Given the description of an element on the screen output the (x, y) to click on. 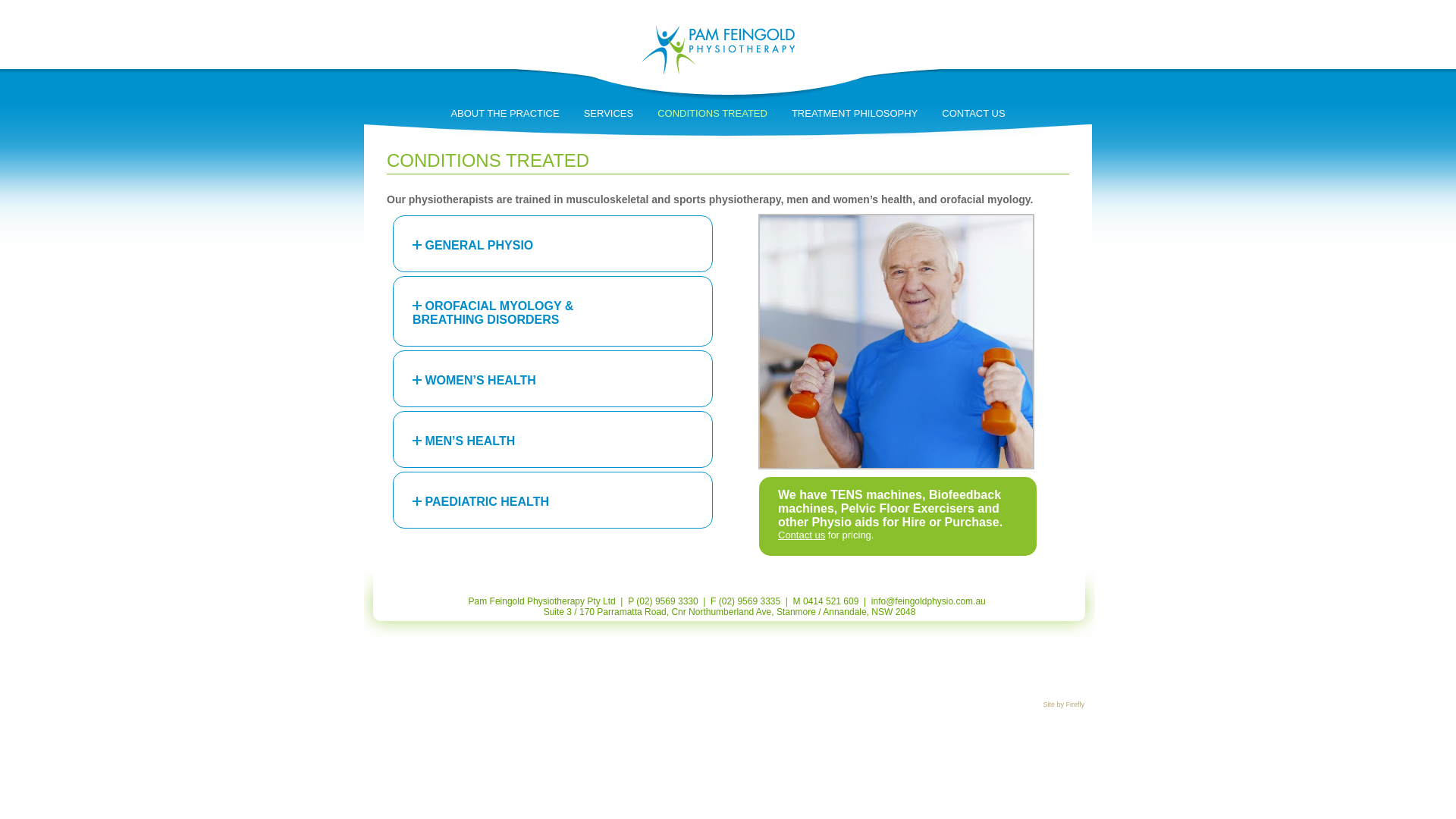
OROFACIAL MYOLOGY &
BREATHING DISORDERS Element type: text (552, 310)
info@feingoldphysio.com.au Element type: text (928, 601)
GENERAL PHYSIO Element type: text (552, 243)
Reveal content Element type: hover (416, 305)
ABOUT THE PRACTICE Element type: text (504, 113)
CONDITIONS TREATED Element type: text (712, 113)
Site by Firefly Element type: text (1063, 704)
Reveal content Element type: hover (416, 379)
Reveal content Element type: hover (416, 500)
Pam Feingold Physiotherapy Element type: hover (727, 96)
Reveal content Element type: hover (416, 244)
Reveal content Element type: hover (416, 440)
TREATMENT PHILOSOPHY Element type: text (854, 113)
Contact us Element type: text (801, 534)
CONTACT US Element type: text (972, 113)
SERVICES Element type: text (608, 113)
PAEDIATRIC HEALTH Element type: text (552, 499)
